Given the description of an element on the screen output the (x, y) to click on. 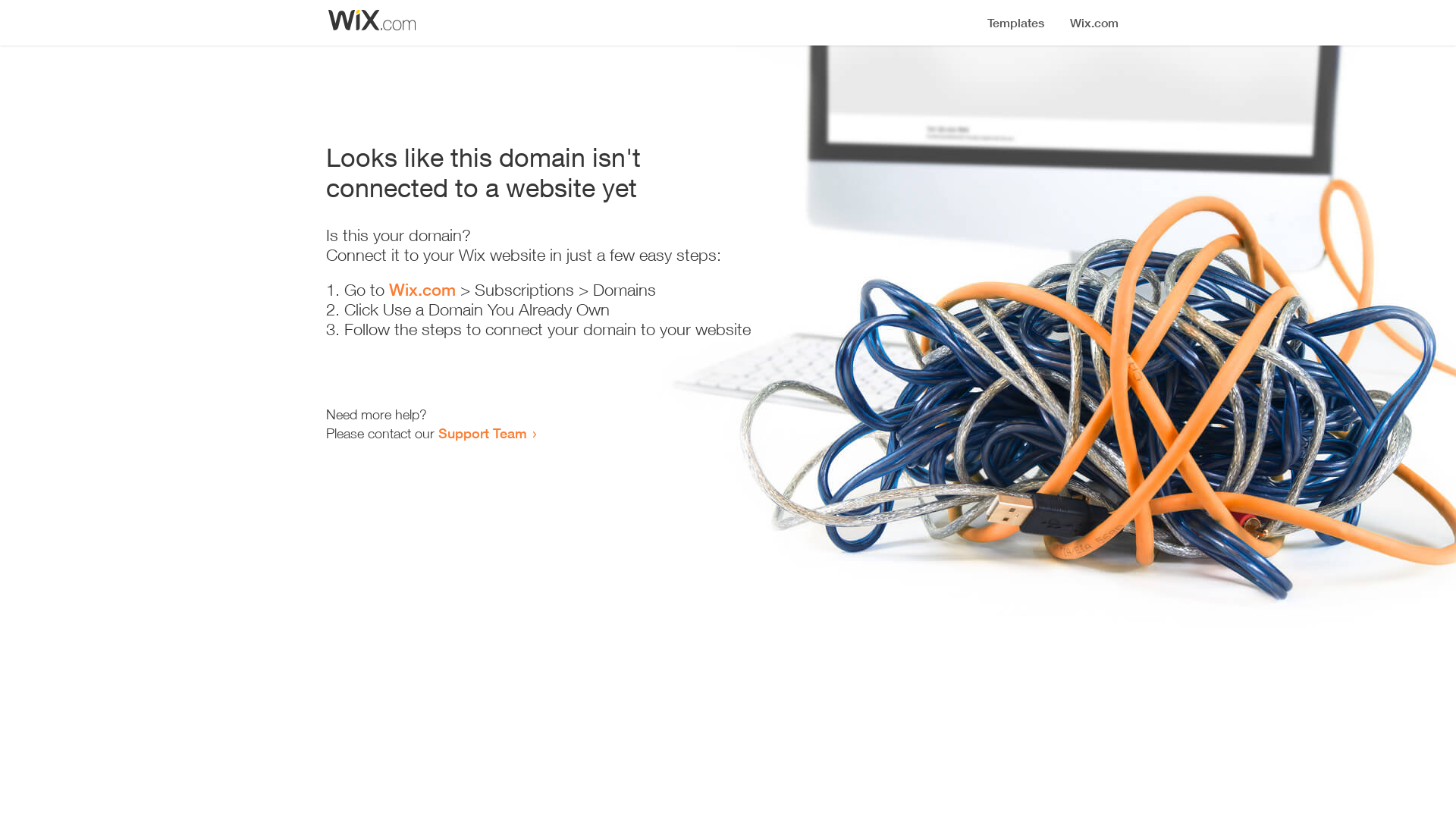
Wix.com Element type: text (422, 289)
Support Team Element type: text (482, 432)
